Given the description of an element on the screen output the (x, y) to click on. 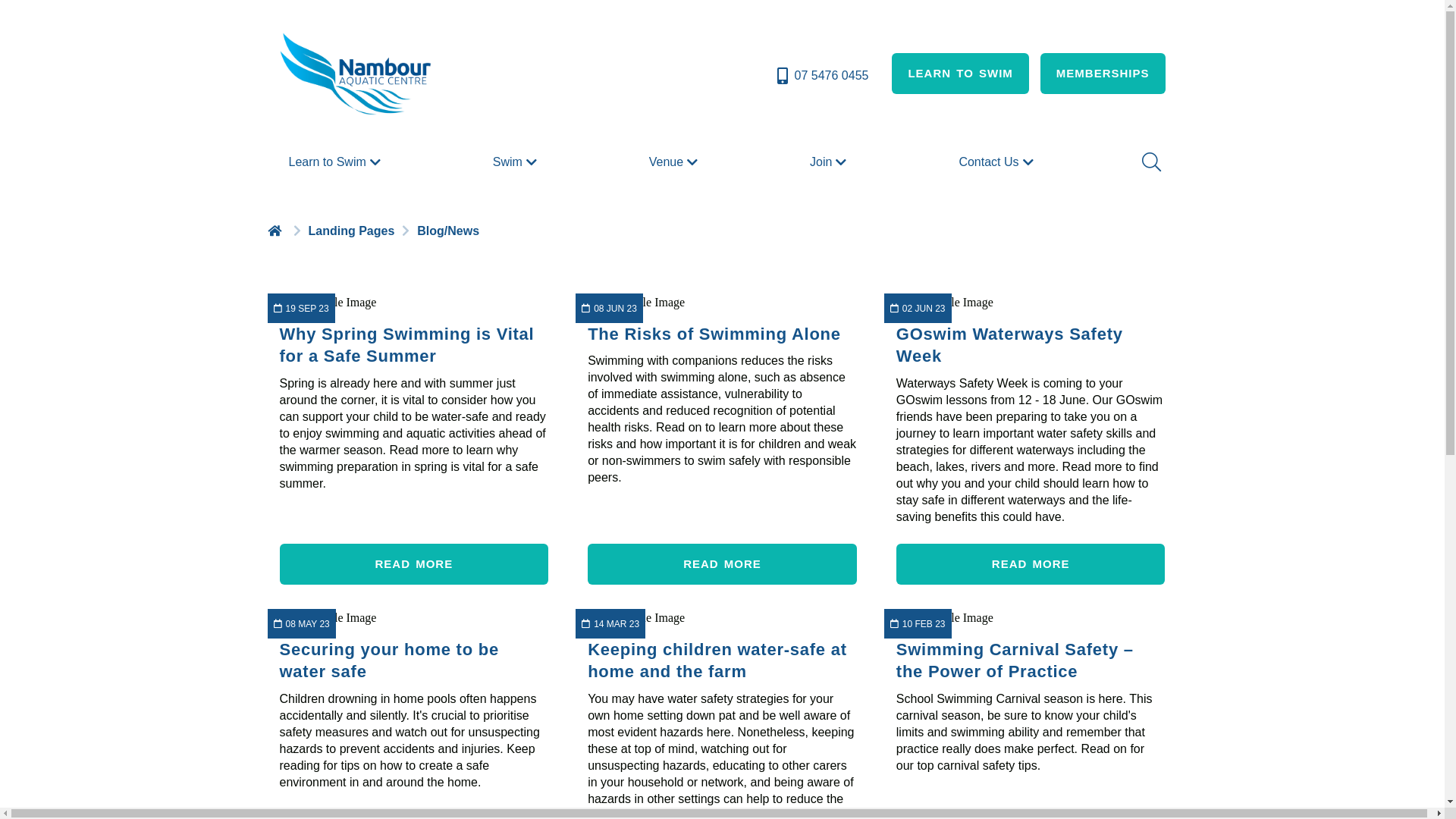
Venue Element type: text (675, 162)
READ MORE Element type: text (721, 563)
Join Element type: text (829, 162)
READ MORE Element type: text (413, 563)
READ MORE Element type: text (1030, 563)
Learn to Swim Element type: text (335, 162)
Contact Us Element type: text (997, 162)
  Element type: text (275, 230)
Swim Element type: text (516, 162)
07 5476 0455 Element type: text (821, 75)
Search Element type: text (1150, 162)
LEARN TO SWIM Element type: text (959, 73)
MEMBERSHIPS Element type: text (1102, 73)
